Given the description of an element on the screen output the (x, y) to click on. 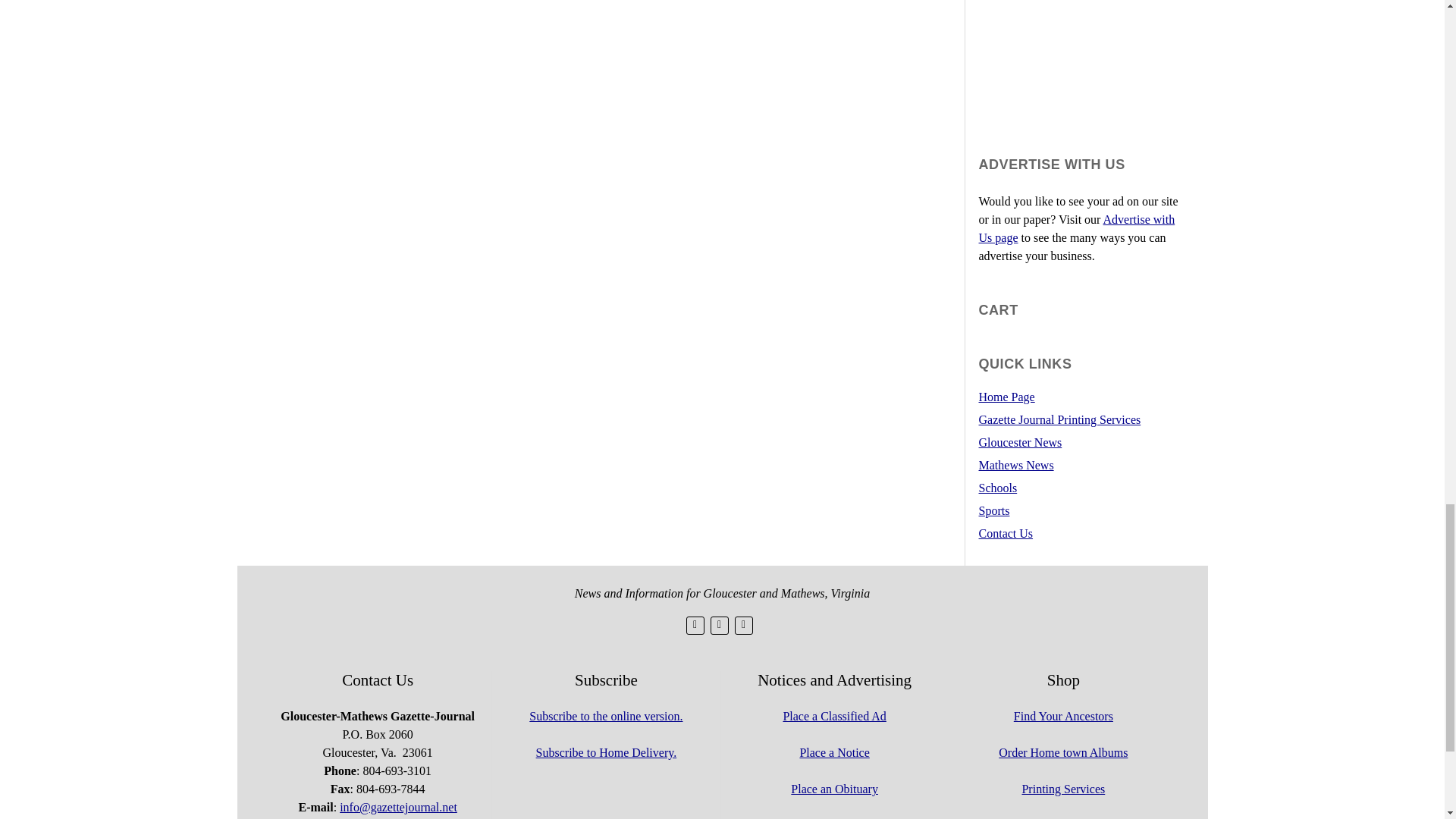
instagram (742, 625)
twitter (694, 625)
facebook (719, 625)
